Given the description of an element on the screen output the (x, y) to click on. 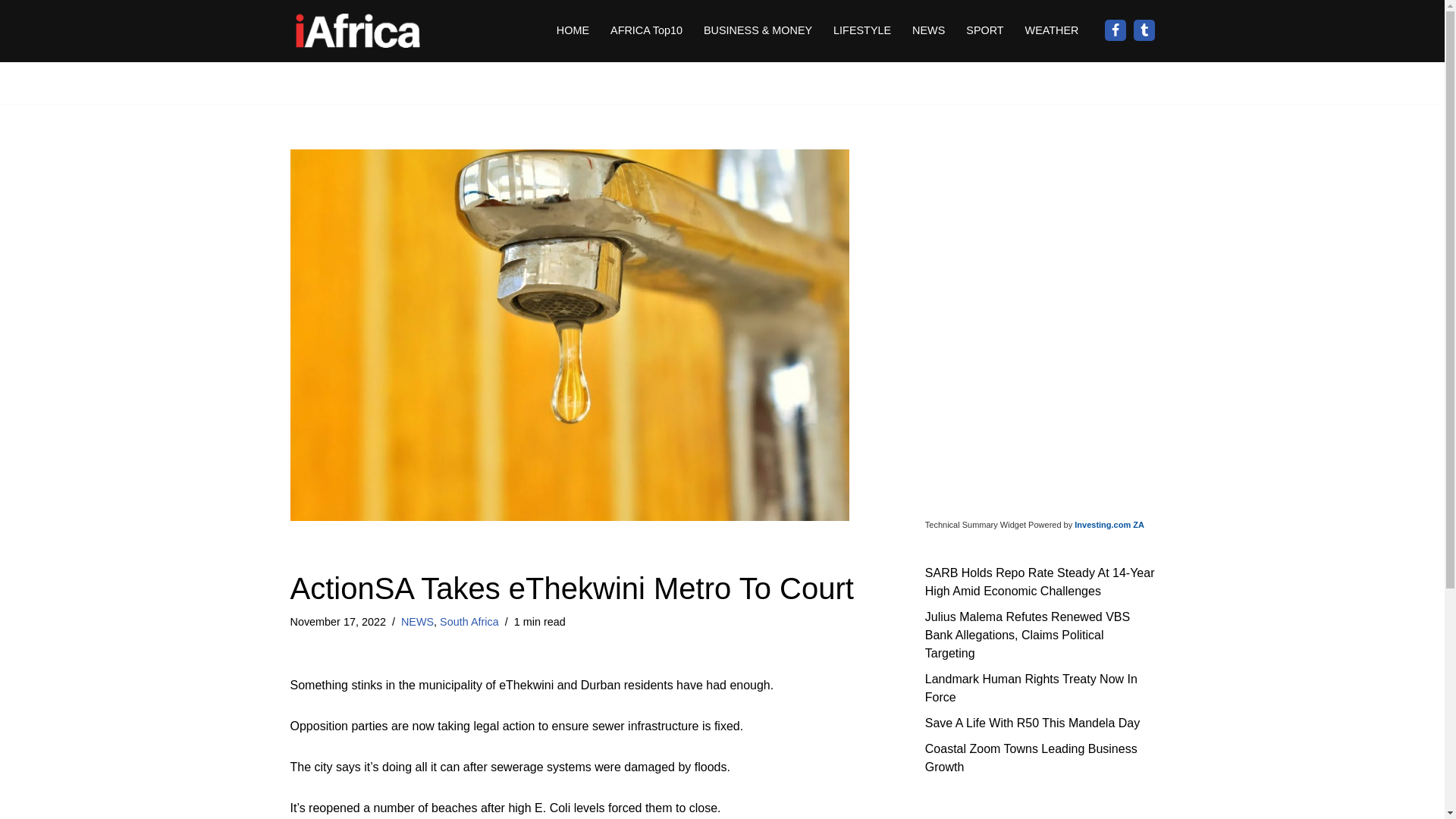
WEATHER (1051, 30)
HOME (572, 30)
NEWS (417, 621)
South Africa (469, 621)
Save A Life With R50 This Mandela Day (1032, 721)
Twitter (1143, 29)
Skip to content (11, 31)
Investing.com ZA (1109, 524)
LIFESTYLE (861, 30)
NEWS (928, 30)
Landmark Human Rights Treaty Now In Force (1030, 686)
Facebook (1114, 29)
AFRICA Top10 (646, 30)
